Given the description of an element on the screen output the (x, y) to click on. 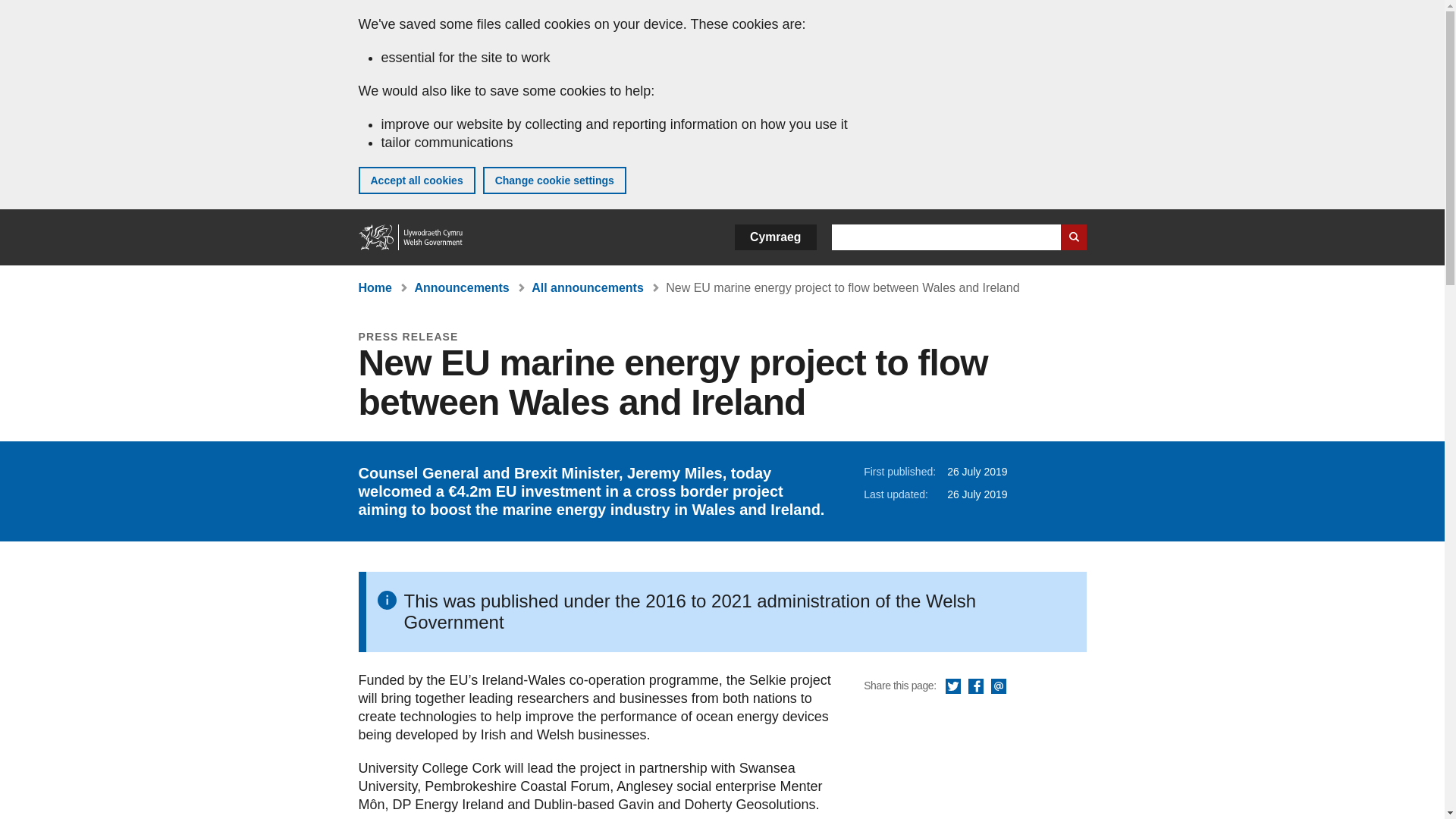
All announcements (587, 287)
Twitter (952, 686)
Welsh Government (411, 237)
Home (374, 287)
Home (411, 237)
Email (998, 686)
Facebook (976, 686)
Cymraeg (775, 237)
Search website (1072, 237)
Search website (1072, 237)
